Given the description of an element on the screen output the (x, y) to click on. 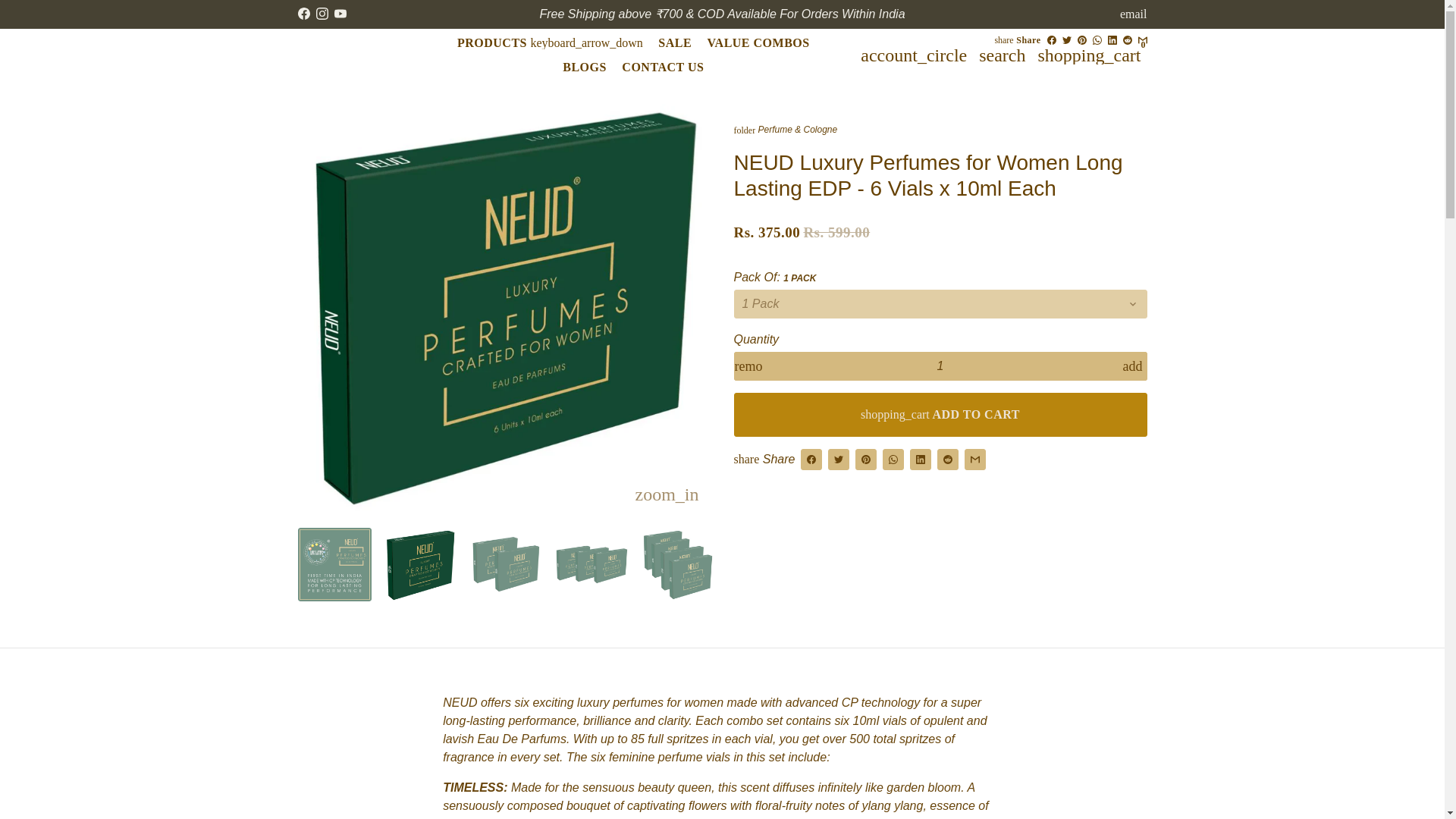
NEUD on Youtube (339, 13)
email (1133, 13)
Cart (1089, 54)
NEUD on Instagram (321, 13)
Log In (913, 54)
NEUD on Facebook (302, 13)
Search (1001, 54)
1 (940, 366)
